Given the description of an element on the screen output the (x, y) to click on. 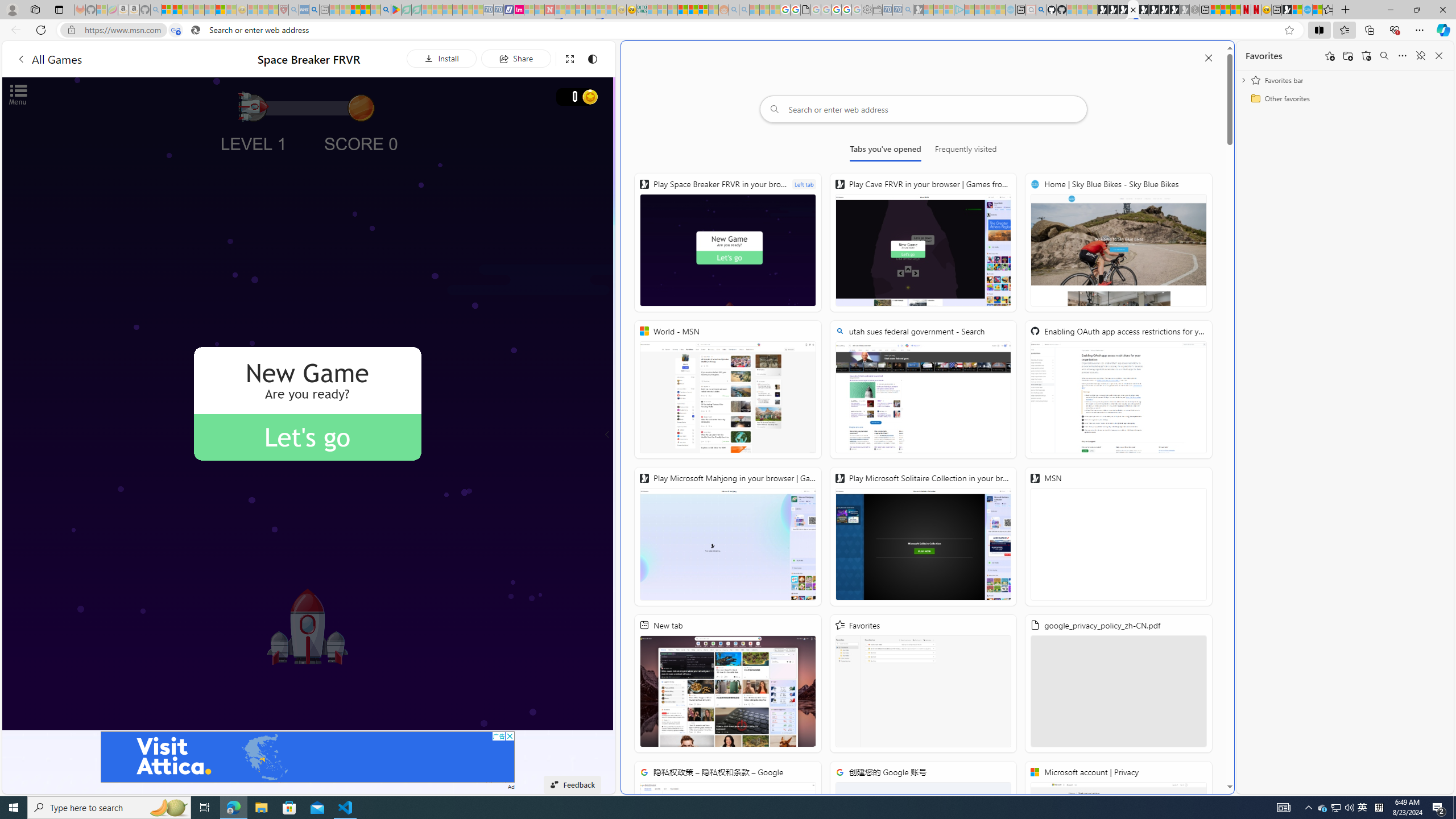
Pets - MSN (365, 9)
Play Cave FRVR in your browser | Games from Microsoft Start (1122, 9)
utah sues federal government - Search (922, 389)
